Given the description of an element on the screen output the (x, y) to click on. 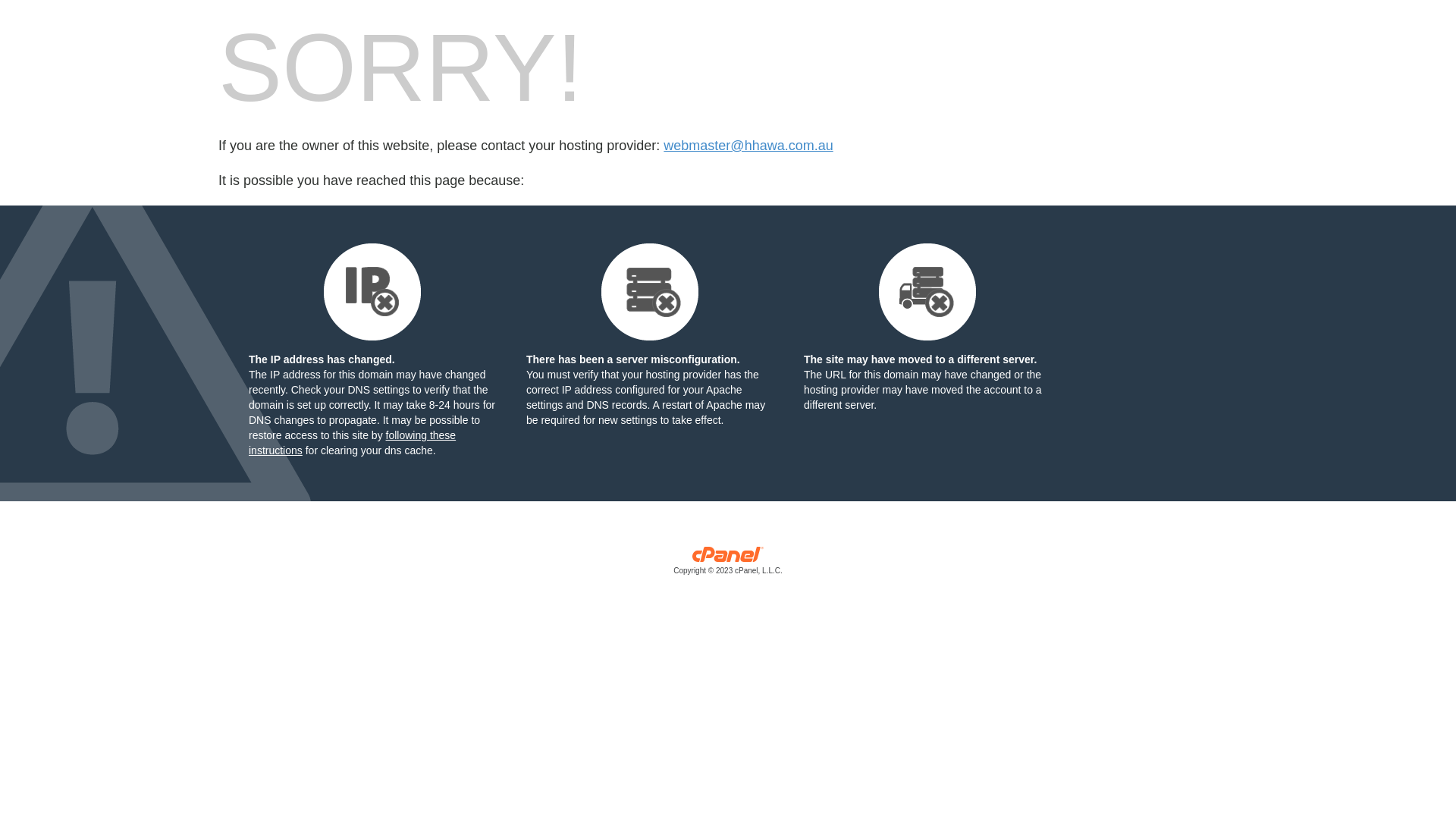
webmaster@hhawa.com.au Element type: text (747, 145)
following these instructions Element type: text (351, 442)
